Given the description of an element on the screen output the (x, y) to click on. 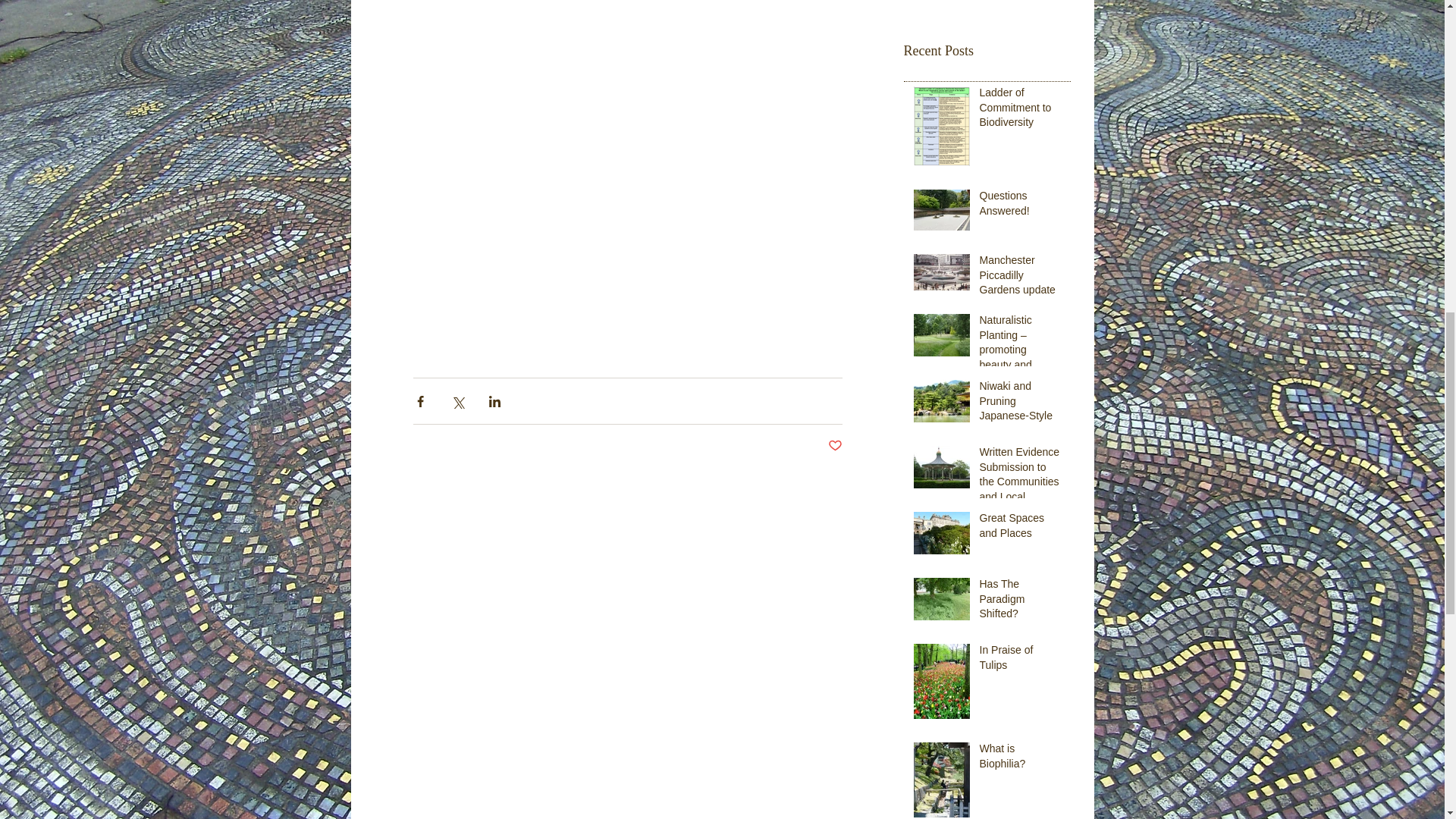
Post not marked as liked (835, 446)
Questions Answered! (1020, 206)
Great Spaces and Places (1020, 529)
What is Biophilia? (1020, 759)
Niwaki and Pruning Japanese-Style (1020, 404)
Lights Shining Through the Gloom! (987, 8)
Has The Paradigm Shifted? (1020, 602)
In Praise of Tulips (1020, 660)
Lights Shining Through the Gloom! (987, 8)
Ladder of Commitment to Biodiversity (1020, 110)
